Given the description of an element on the screen output the (x, y) to click on. 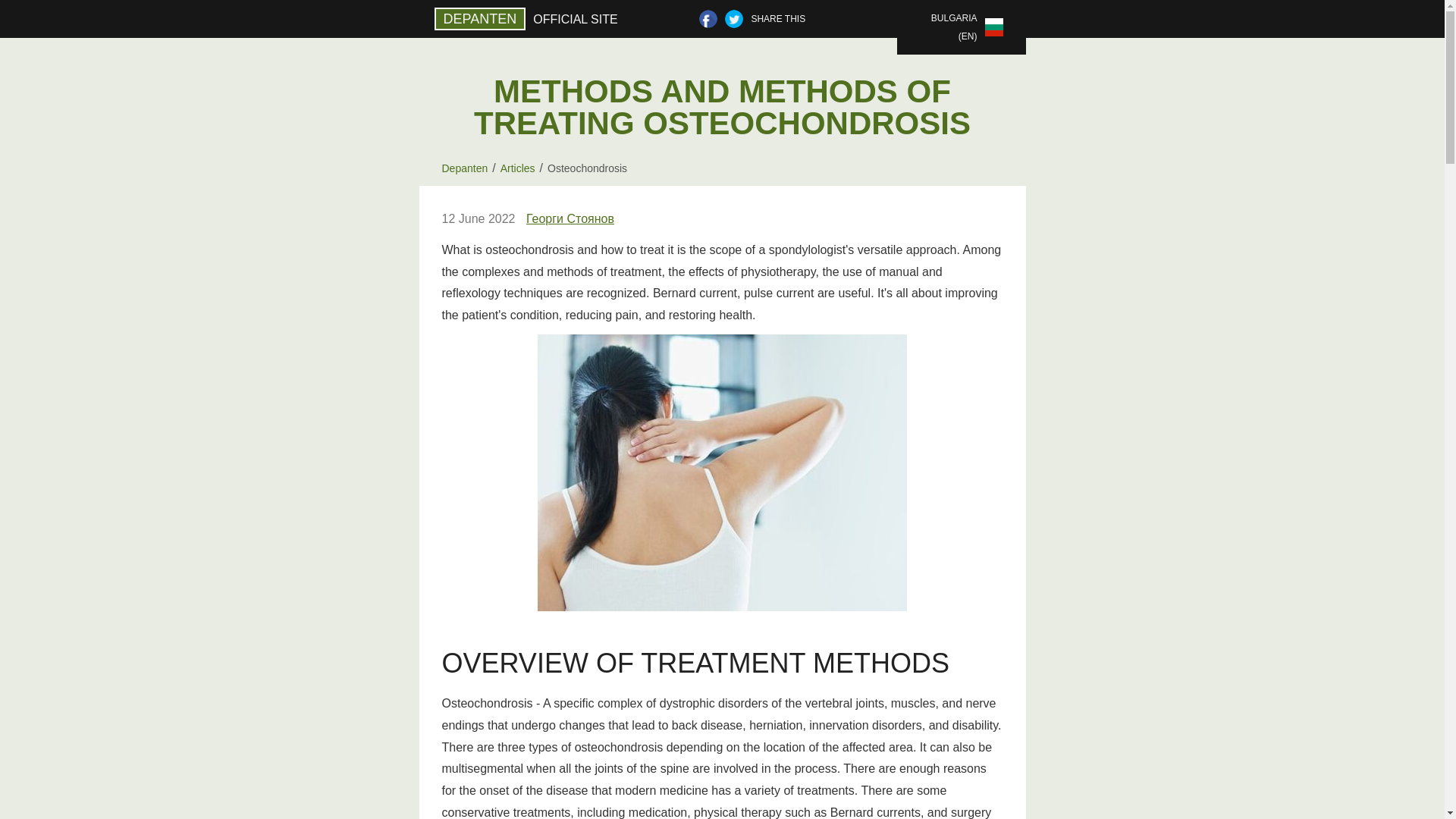
12 June 2022 (478, 219)
Twitter (733, 18)
Facebook (707, 18)
DEPANTEN OFFICIAL SITE (528, 18)
Articles (517, 168)
Depanten (464, 168)
Osteochondrosis (587, 168)
